Given the description of an element on the screen output the (x, y) to click on. 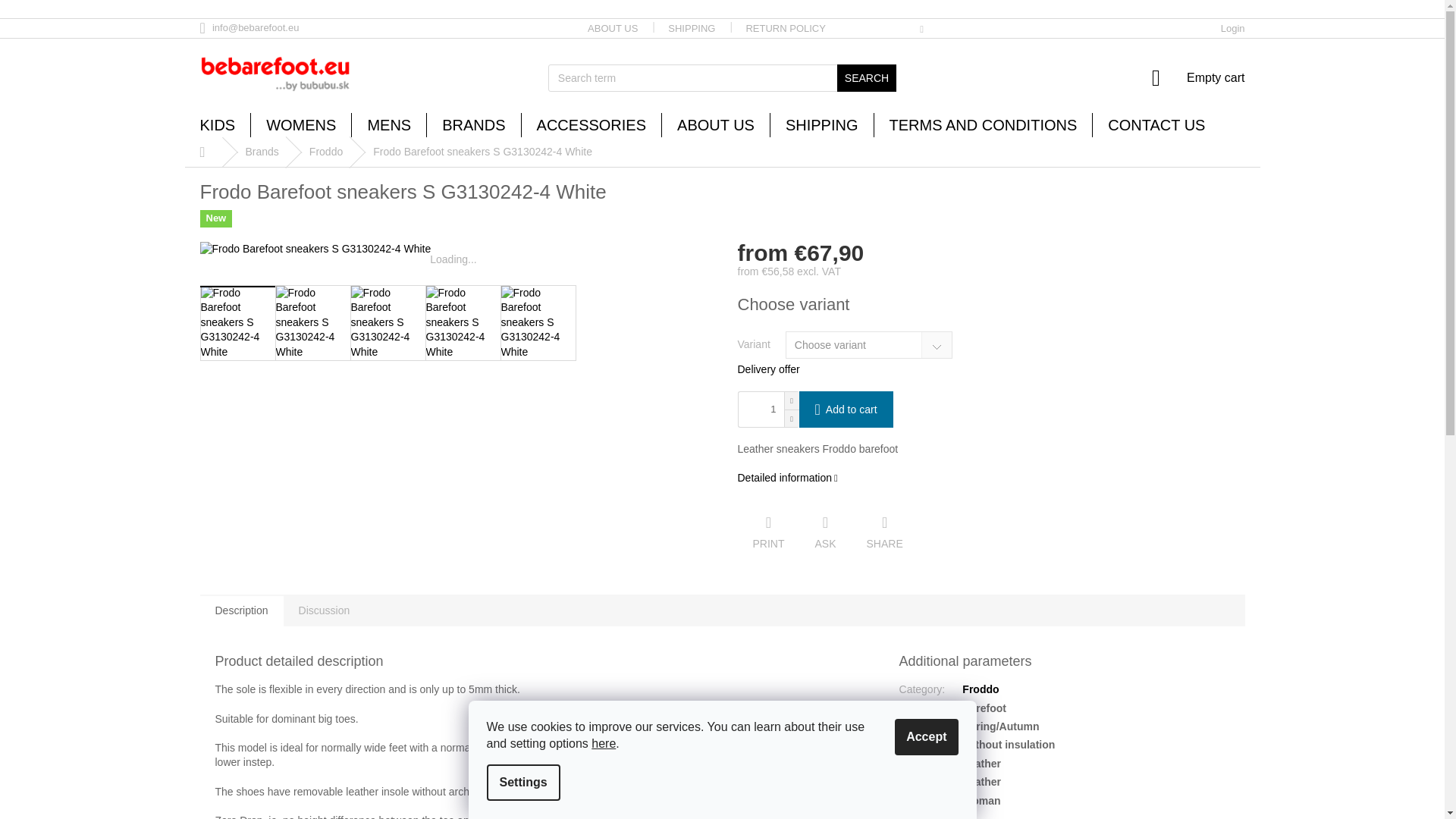
Print product (1194, 77)
ABOUT US (767, 533)
SEARCH (612, 28)
1 (866, 77)
SHIPPING (757, 409)
KIDS (691, 28)
RETURN POLICY (217, 125)
Share product (785, 28)
Login (884, 533)
Availability (1232, 28)
Speak to a sales advisor (990, 304)
